Given the description of an element on the screen output the (x, y) to click on. 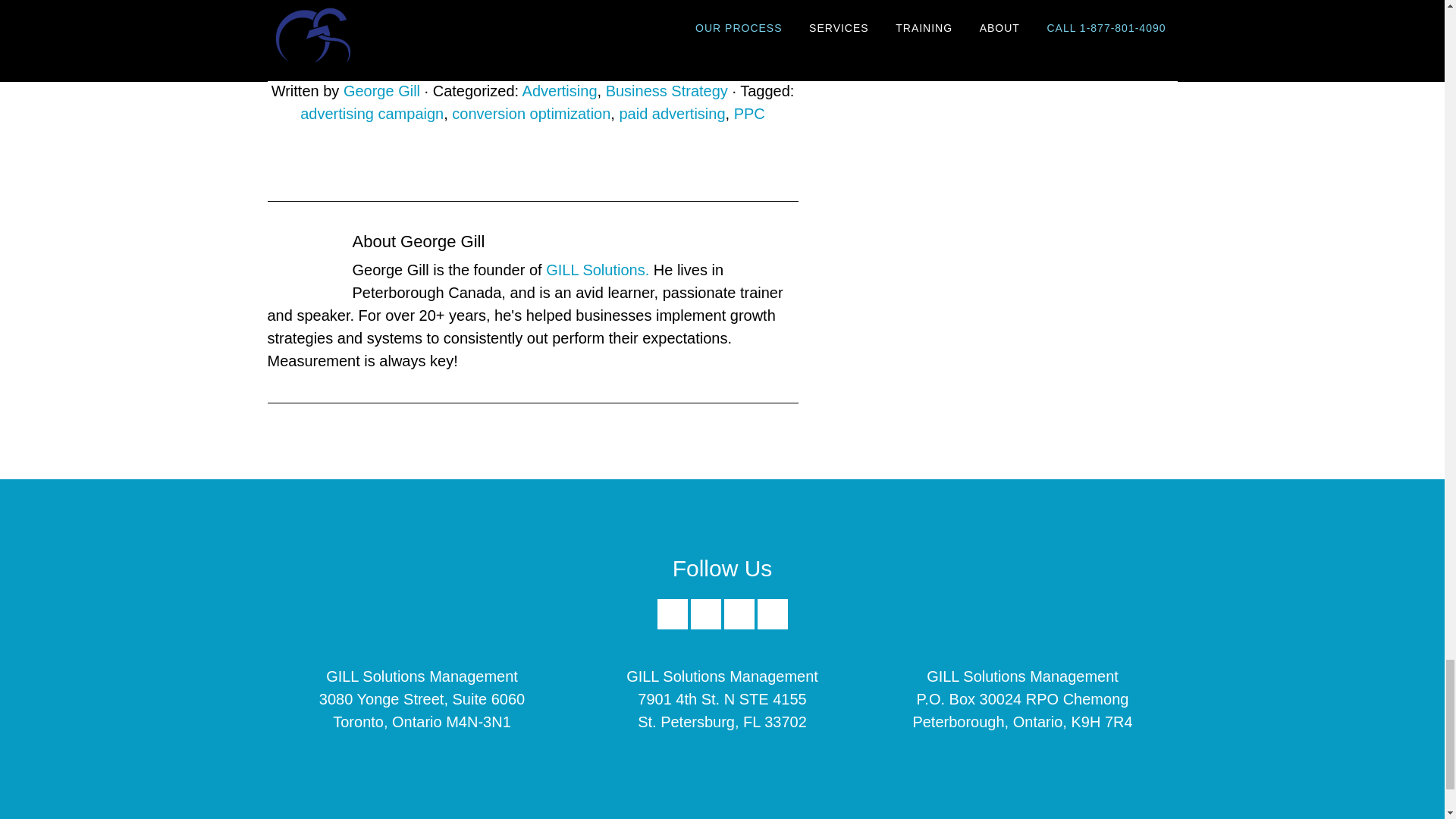
YouTube (772, 625)
Twitter (738, 625)
Facebook (671, 625)
Facebook (671, 613)
LinkedIn (705, 625)
YouTube (772, 613)
Twitter (738, 613)
LinkedIn (705, 613)
